Given the description of an element on the screen output the (x, y) to click on. 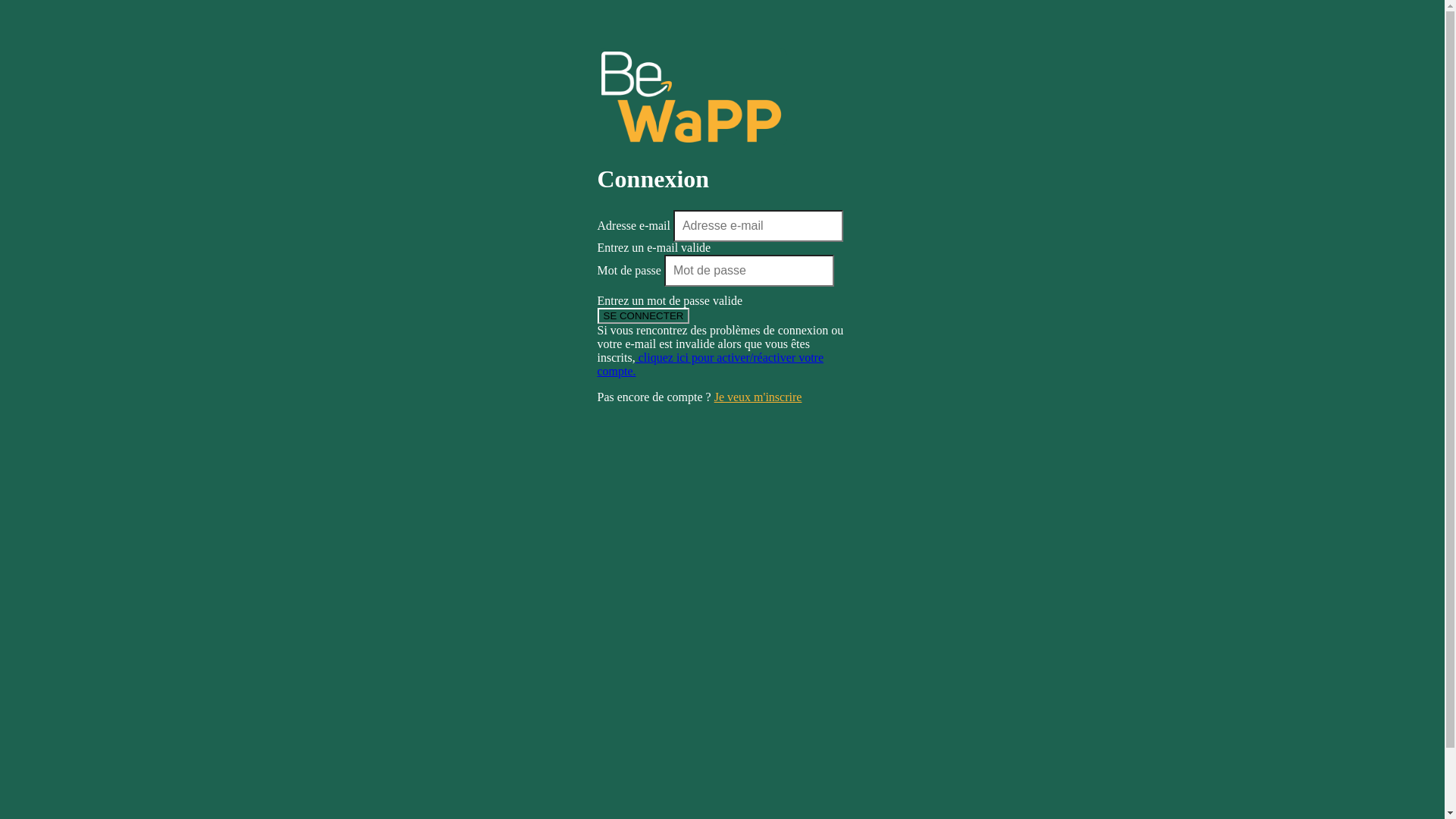
SE CONNECTER Element type: text (643, 315)
Je veux m'inscrire Element type: text (758, 396)
